Given the description of an element on the screen output the (x, y) to click on. 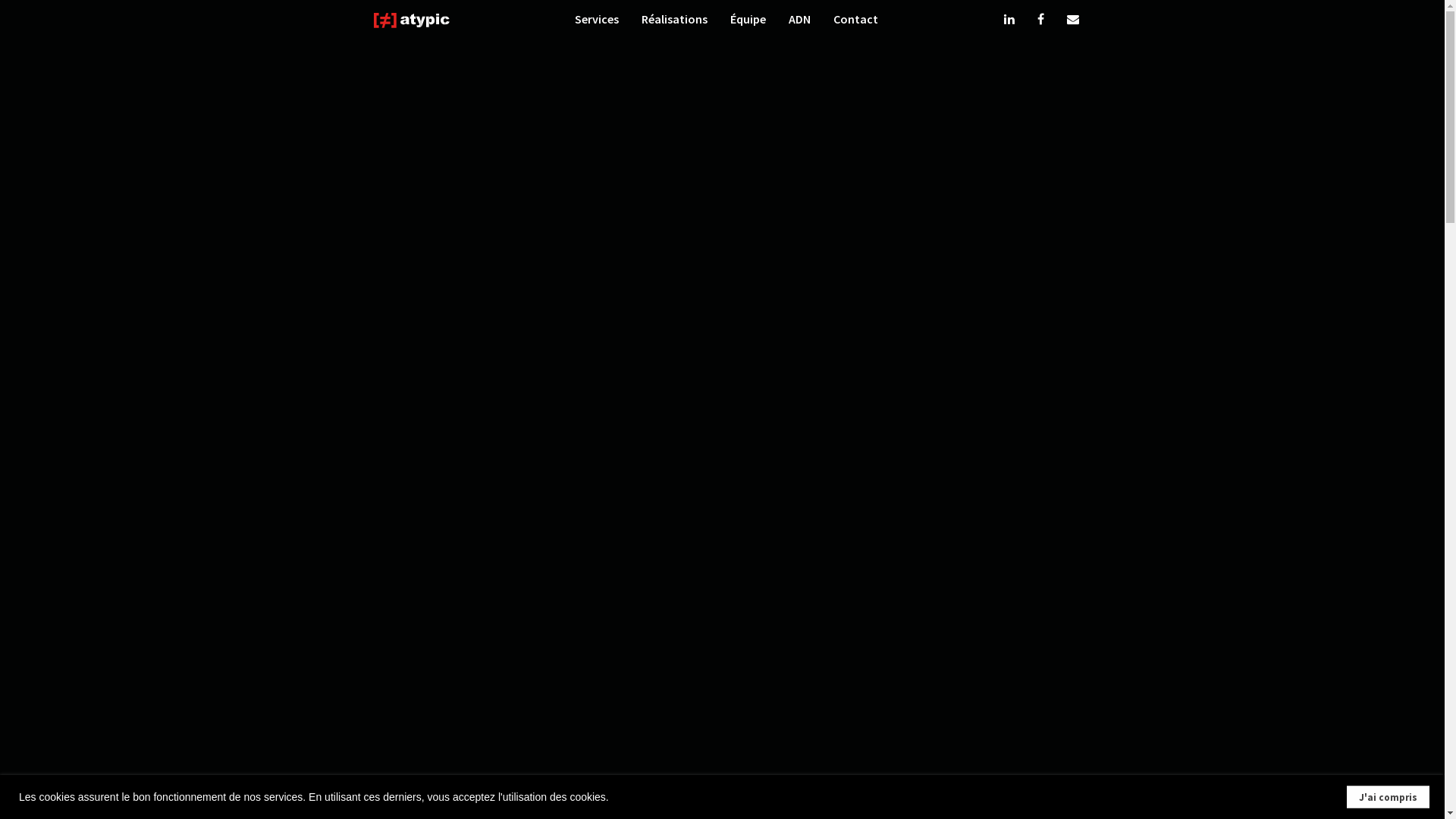
Community Element type: text (985, 686)
Services Element type: text (596, 20)
Contact Element type: text (855, 20)
Salon - Stand Element type: text (721, 686)
Charte Graphique Element type: text (458, 686)
Facebook Element type: hover (1346, 792)
Activation POS Element type: text (1249, 728)
info@atypic.be Element type: text (121, 792)
Packaging Element type: text (458, 707)
Email Element type: hover (1071, 20)
Activation Concours Element type: text (1249, 707)
Display POS Element type: text (458, 728)
LinkedIn Element type: hover (1330, 792)
Consultance Element type: text (194, 665)
E-Marketing - Lead Generation Element type: text (194, 686)
Event corporate Element type: text (721, 665)
Actions terrain Element type: text (721, 707)
LinkedIn Element type: hover (1009, 20)
Formations Element type: text (985, 707)
ADN Element type: text (799, 20)
Facebook Element type: hover (1040, 20)
Email Element type: hover (1362, 792)
